Given the description of an element on the screen output the (x, y) to click on. 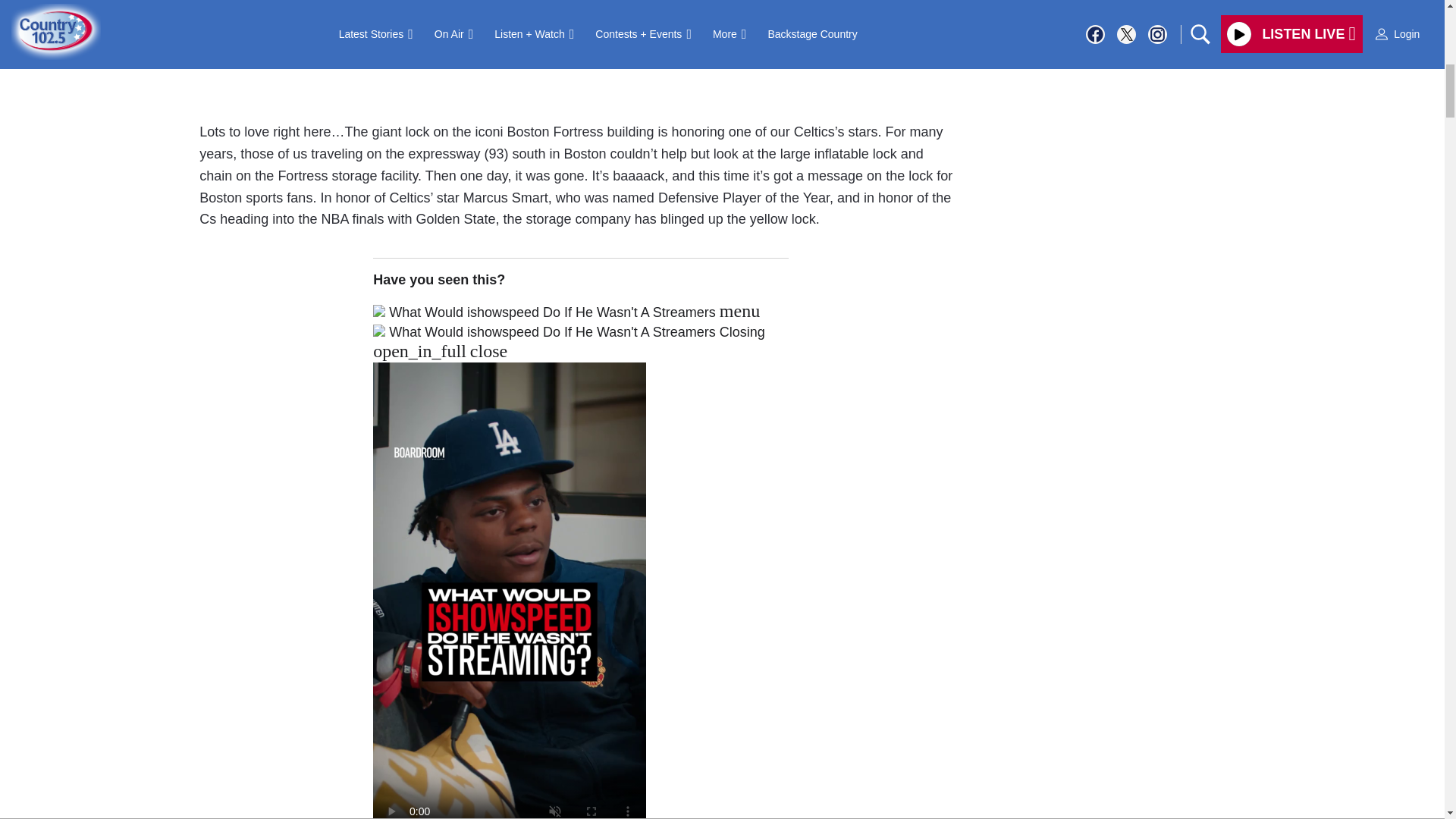
Close AdCheckmark indicating ad close (1434, 11)
